Given the description of an element on the screen output the (x, y) to click on. 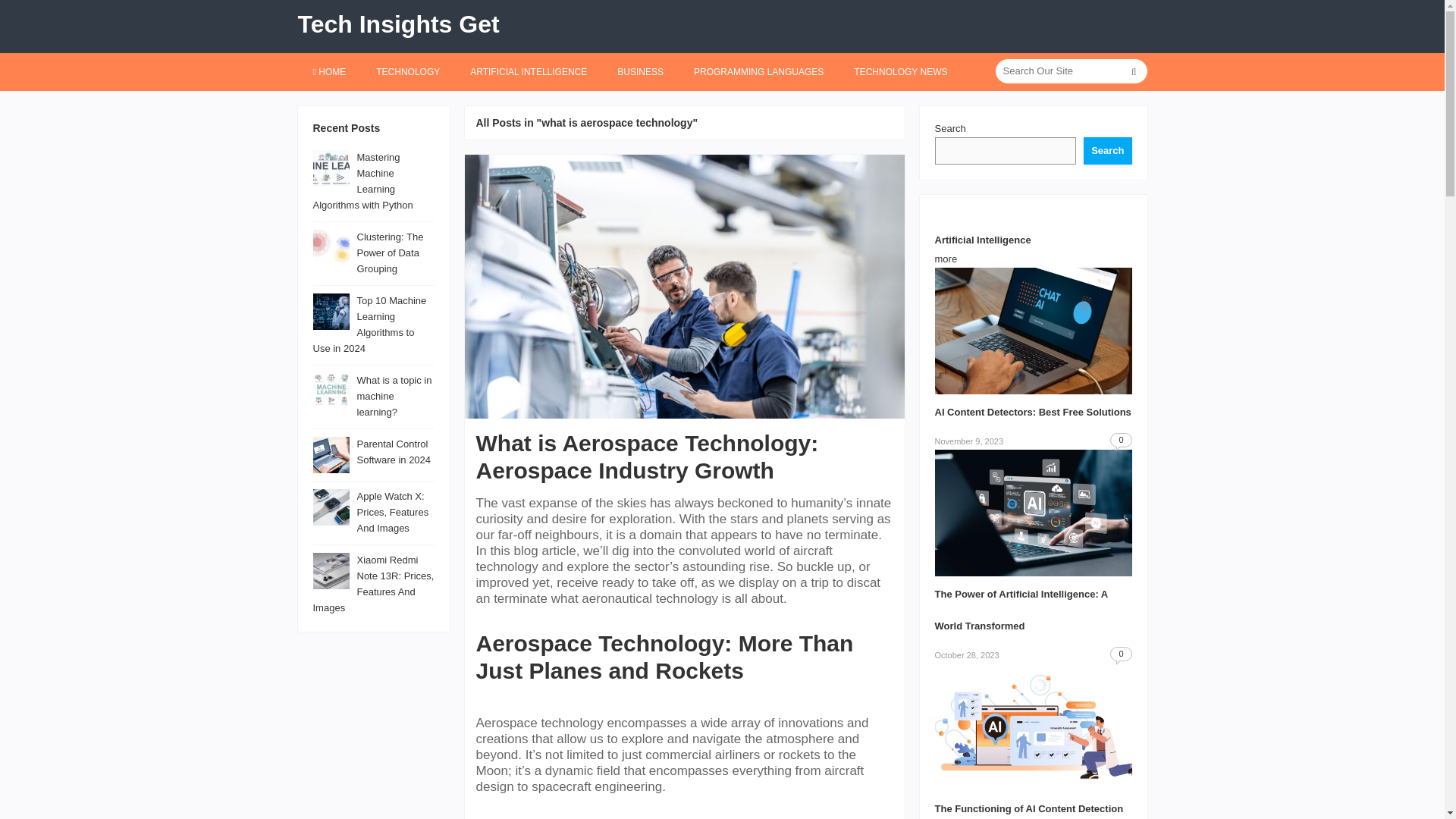
Xiaomi Redmi Note 13R: Prices, Features And Images (373, 583)
Parental Control Software in 2024 (393, 452)
Top 10 Machine Learning Algorithms to Use in 2024 (369, 323)
Search (1107, 150)
TECHNOLOGY NEWS (900, 71)
Tech Insights Get (398, 23)
HOME (329, 71)
Clustering: The Power of Data Grouping (389, 252)
TECHNOLOGY (407, 71)
Mastering Machine Learning Algorithms with Python (362, 180)
Apple Watch X: Prices, Features And Images (392, 511)
What is Aerospace Technology: Aerospace Industry Growth (647, 456)
BUSINESS (640, 71)
PROGRAMMING LANGUAGES (758, 71)
ARTIFICIAL INTELLIGENCE (528, 71)
